Given the description of an element on the screen output the (x, y) to click on. 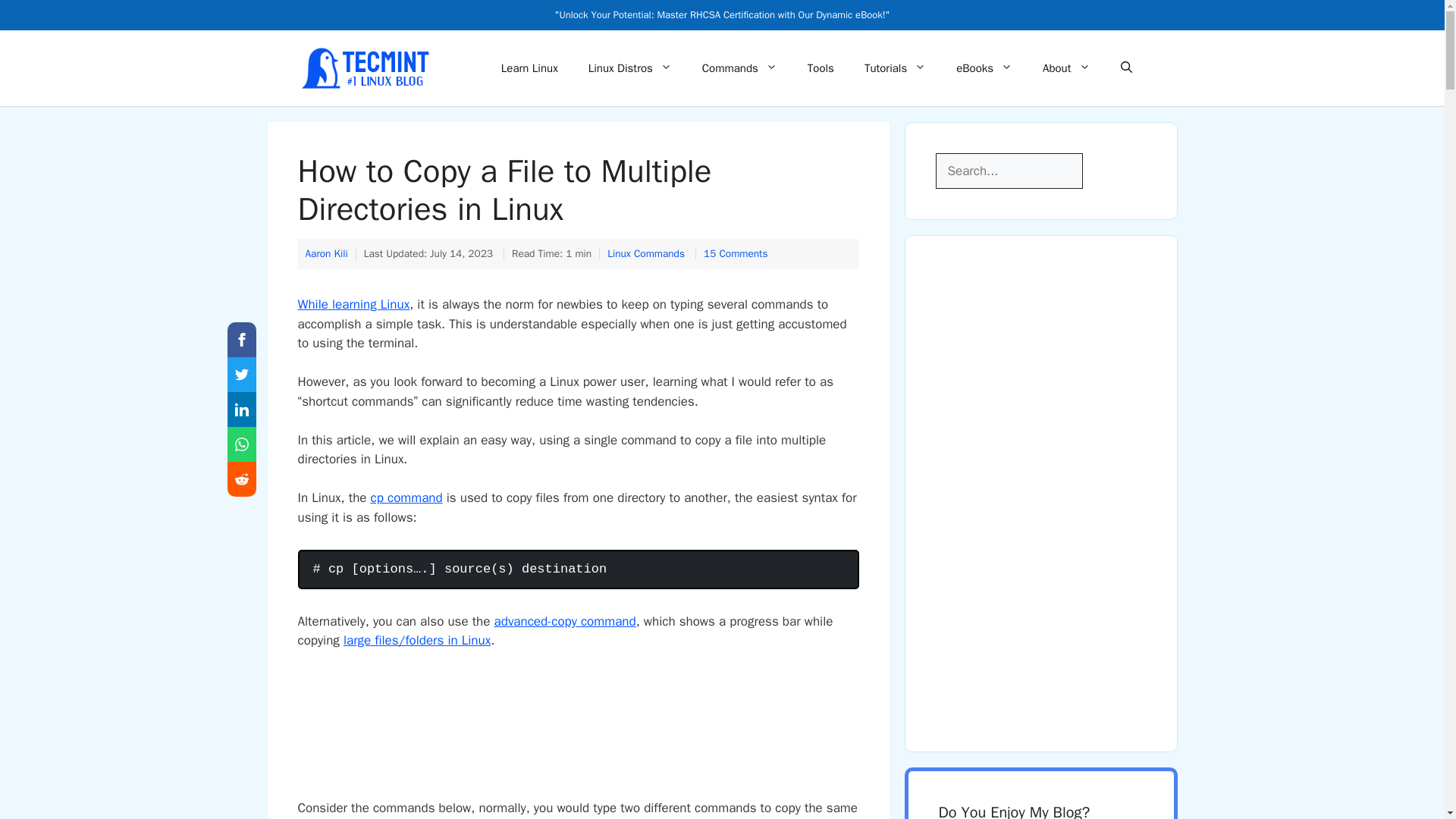
Commands (739, 67)
Linux Distributions (630, 67)
Tutorials (894, 67)
Start Learning Linux (529, 67)
Learn Linux (529, 67)
Tools (820, 67)
Linux Distros (630, 67)
